Given the description of an element on the screen output the (x, y) to click on. 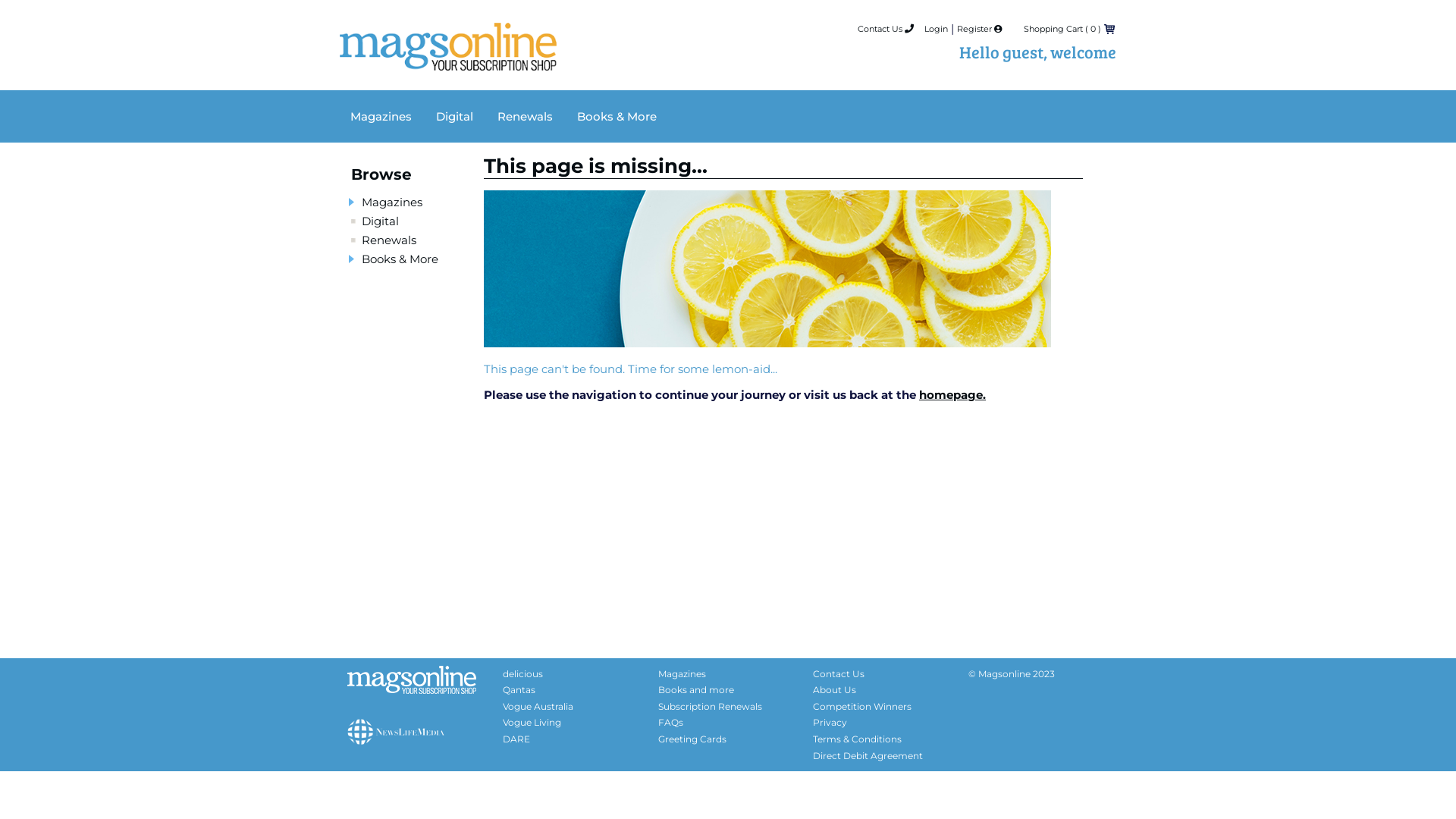
delicious Element type: text (522, 673)
Terms & Conditions Element type: text (856, 738)
Digital Element type: text (454, 116)
FAQs Element type: text (670, 722)
Digital Element type: text (379, 220)
Magazines Element type: text (391, 201)
Home Element type: hover (447, 58)
Login Element type: text (935, 28)
Contact Us Element type: text (885, 28)
Contact Us Element type: text (838, 673)
Greeting Cards Element type: text (692, 738)
Books & More Element type: text (399, 258)
Subscription Renewals Element type: text (710, 706)
Books and more Element type: text (696, 689)
Books & More Element type: text (616, 116)
Vogue Australia Element type: text (537, 706)
homepage. Element type: text (952, 394)
Vogue Living Element type: text (531, 722)
Qantas Element type: text (518, 689)
Magazines Element type: text (682, 673)
About Us Element type: text (834, 689)
Renewals Element type: text (388, 239)
DARE Element type: text (516, 738)
Magazines Element type: text (380, 116)
Direct Debit Agreement Element type: text (867, 755)
Shopping Cart ( 0 ) Element type: text (1062, 28)
Renewals Element type: text (524, 116)
Competition Winners Element type: text (861, 706)
Privacy Element type: text (829, 722)
Register  Element type: text (979, 28)
